Given the description of an element on the screen output the (x, y) to click on. 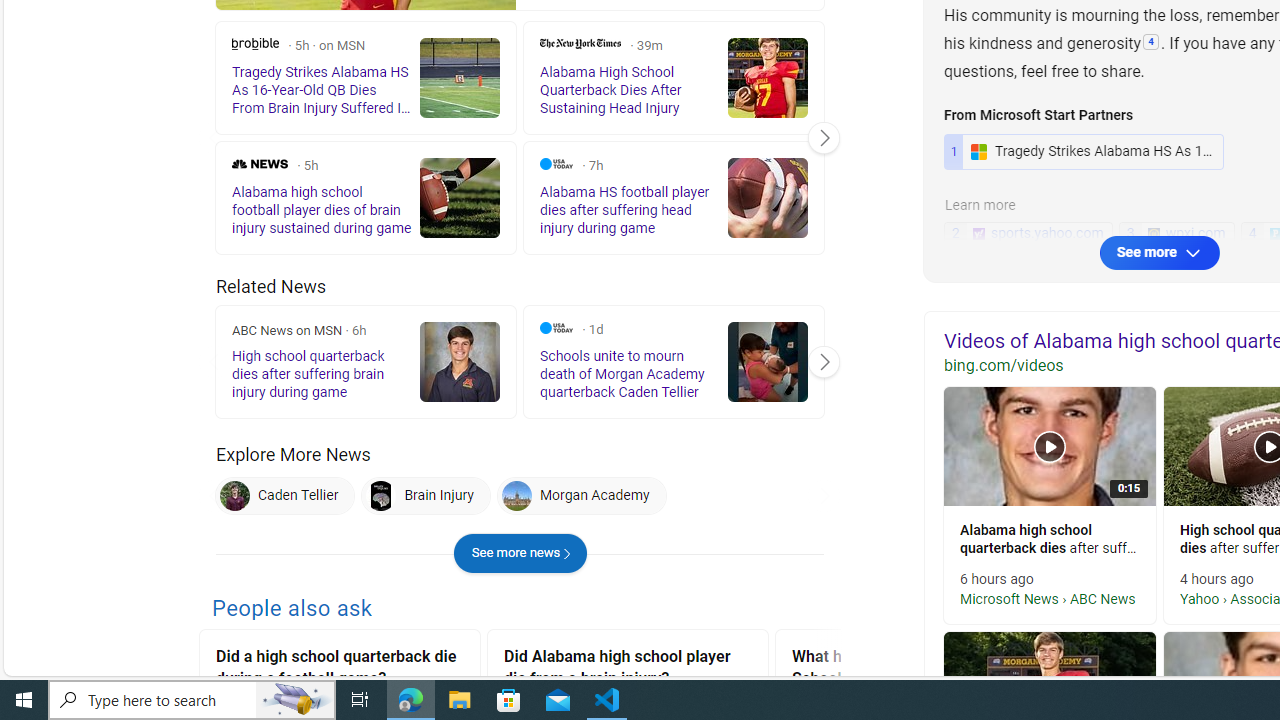
Morgan Academy (580, 496)
See more news (520, 553)
